Given the description of an element on the screen output the (x, y) to click on. 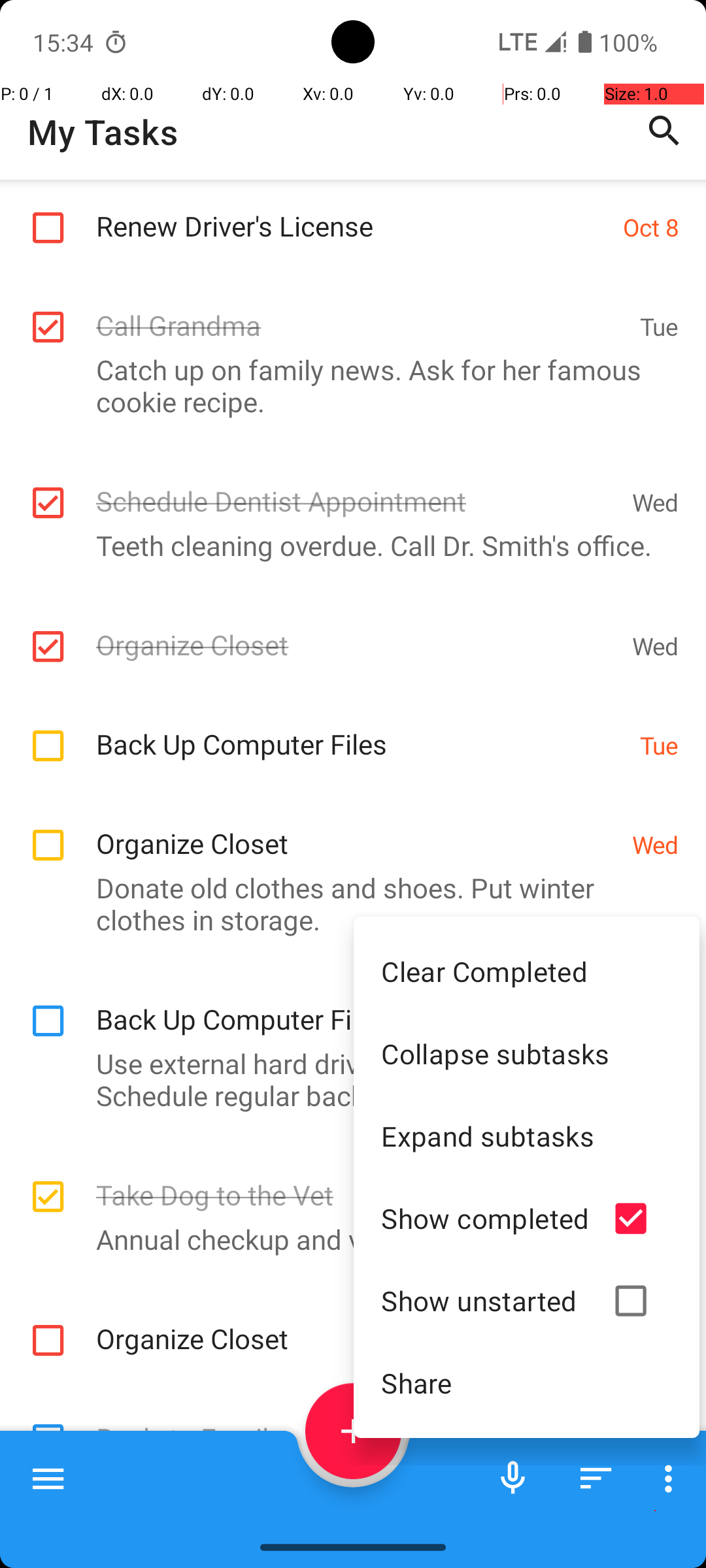
Clear Completed Element type: android.widget.TextView (526, 970)
Collapse subtasks Element type: android.widget.TextView (526, 1053)
Expand subtasks Element type: android.widget.TextView (526, 1135)
Show completed Element type: android.widget.TextView (485, 1217)
Show unstarted Element type: android.widget.TextView (485, 1300)
